Given the description of an element on the screen output the (x, y) to click on. 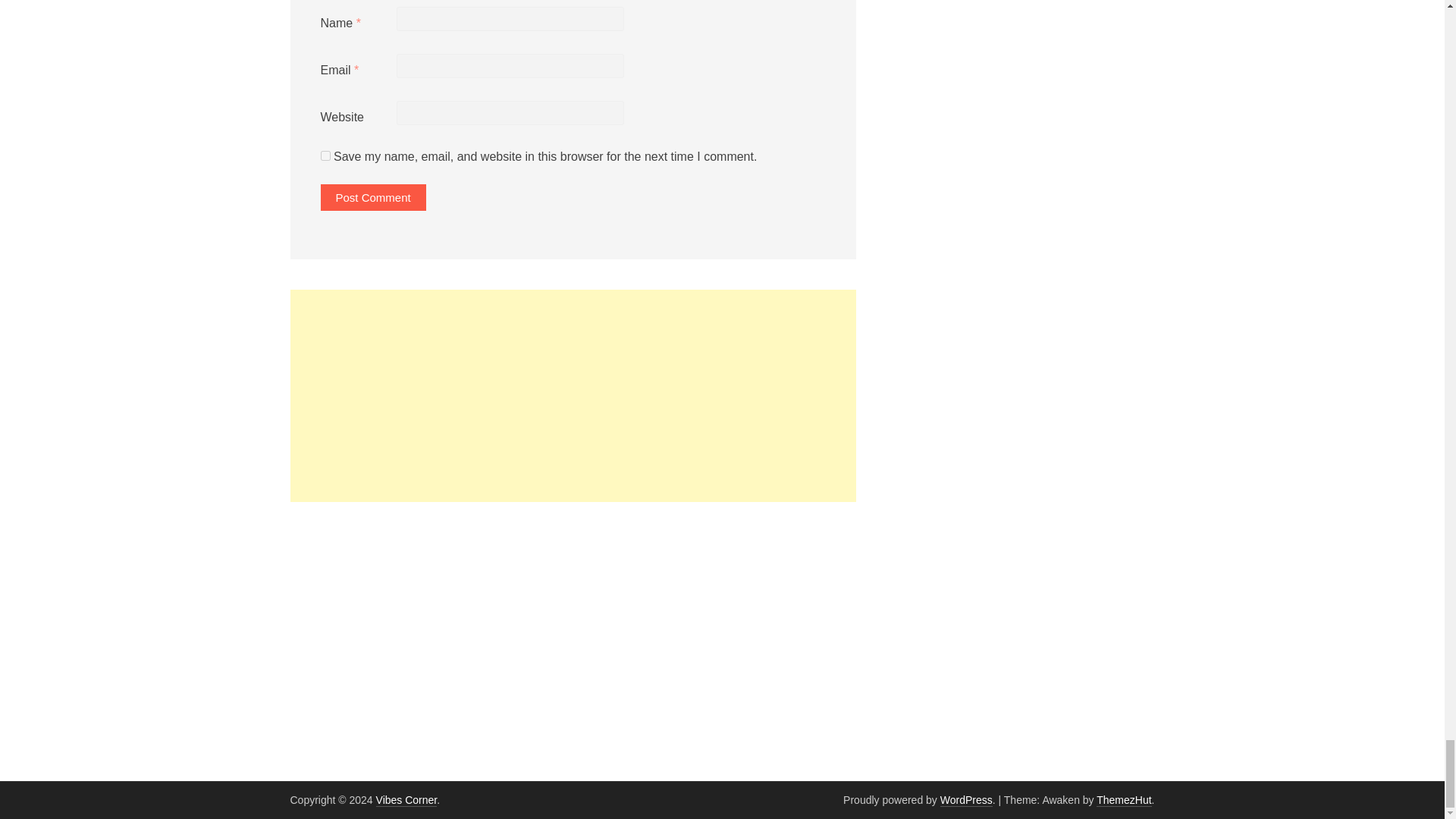
Post Comment (372, 197)
WordPress (966, 799)
yes (325, 155)
Vibes Corner (406, 799)
Post Comment (372, 197)
WordPress (966, 799)
ThemezHut (1123, 799)
Vibes Corner (406, 799)
